Given the description of an element on the screen output the (x, y) to click on. 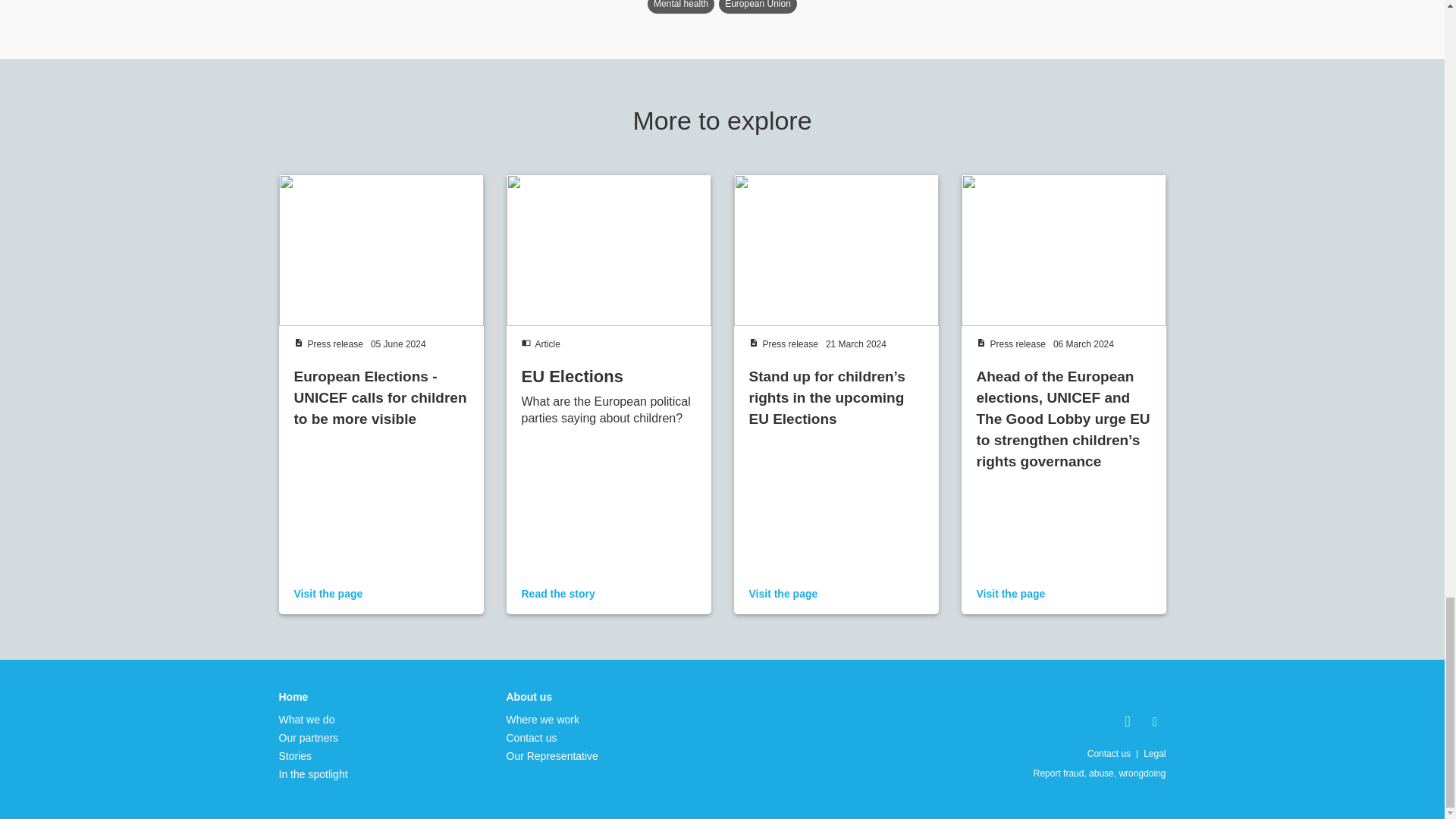
Mental health (680, 6)
European Union (757, 6)
Our partners (313, 737)
Contact us (552, 737)
Our Representative (552, 755)
Home (313, 696)
Our partners (313, 737)
Where we work (552, 719)
About us (552, 696)
Stories (313, 755)
